Given the description of an element on the screen output the (x, y) to click on. 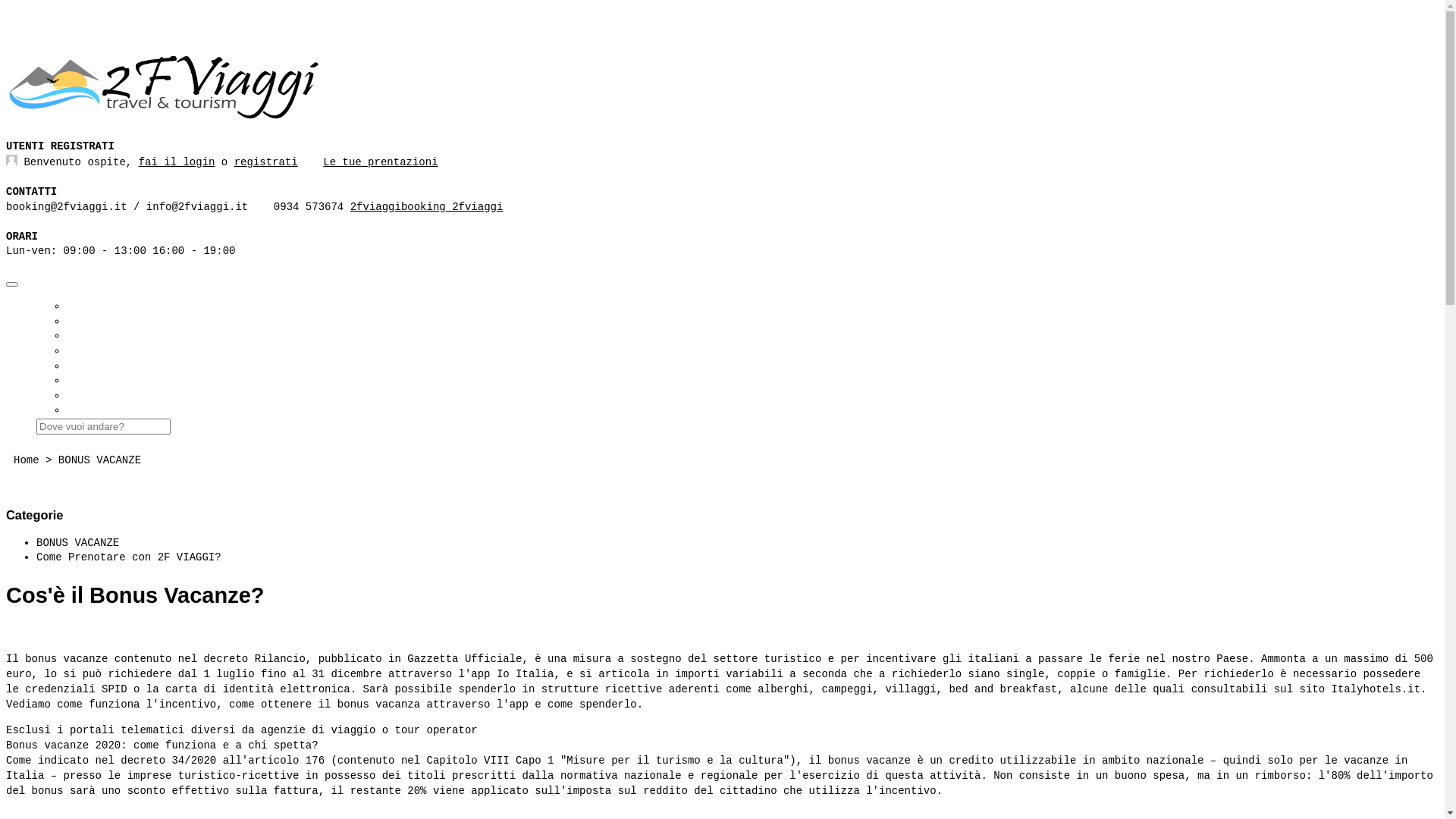
DESTINAZIONI Element type: text (104, 351)
CONTATTI Element type: text (91, 380)
CHI SIAMO Element type: text (95, 410)
HOME Element type: text (79, 306)
registrati Element type: text (266, 162)
OFFERTE Element type: text (88, 335)
CONDIZIONI DI ACQUISTO Element type: text (136, 366)
fai il login Element type: text (176, 162)
Come Prenotare con 2F VIAGGI? Element type: text (128, 557)
BONUS VACANZE Element type: text (99, 460)
BONUS VACANZE Element type: text (77, 542)
2fviaggibooking Element type: text (397, 206)
FAQ Element type: text (75, 321)
Home Element type: text (26, 460)
PRIVACY Element type: text (88, 395)
2fviaggi Element type: text (476, 206)
Le tue prentazioni Element type: text (380, 162)
